Given the description of an element on the screen output the (x, y) to click on. 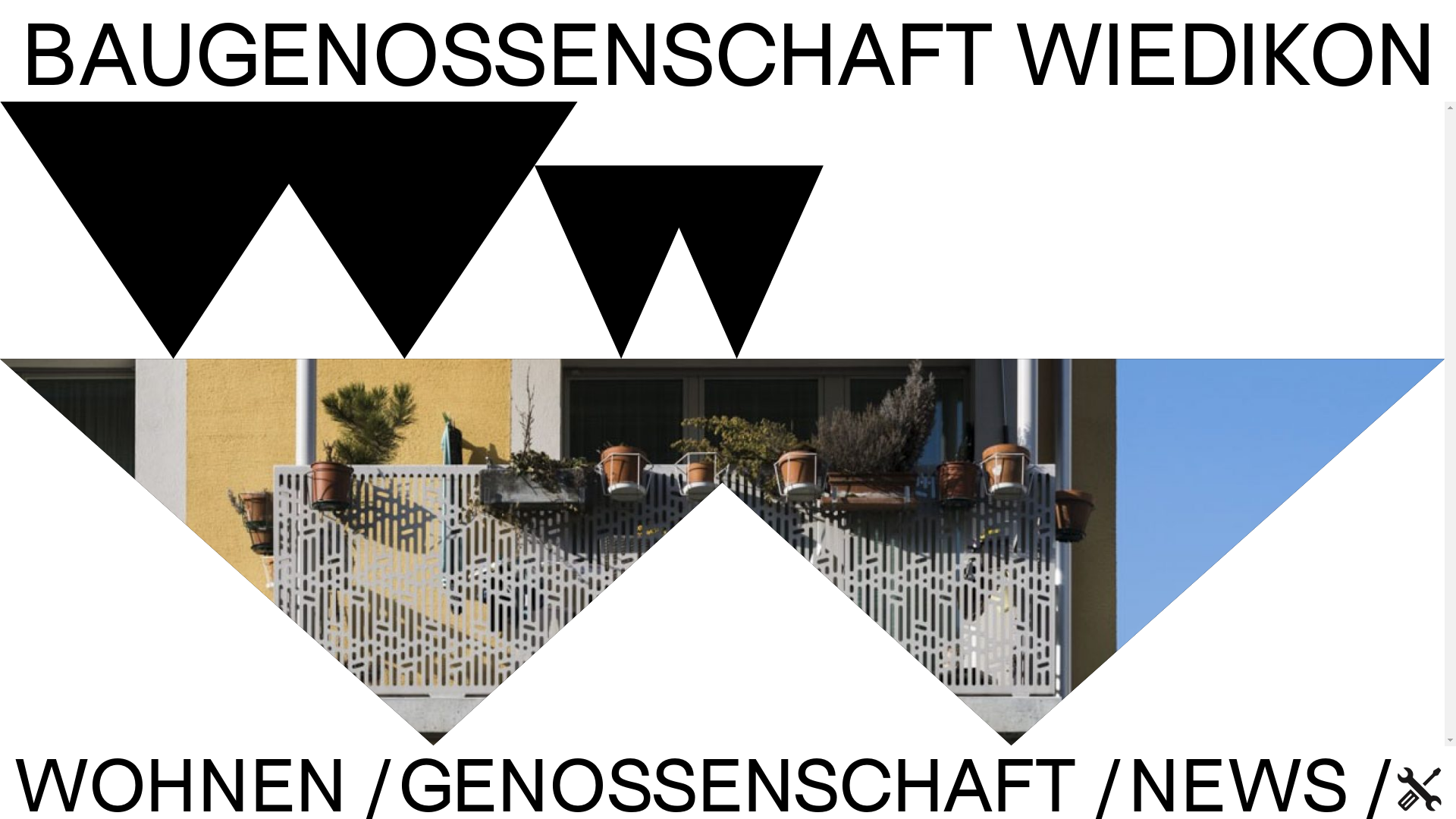
BAUGENOSSENSCHAFT WIEDIKON Element type: text (727, 55)
